Given the description of an element on the screen output the (x, y) to click on. 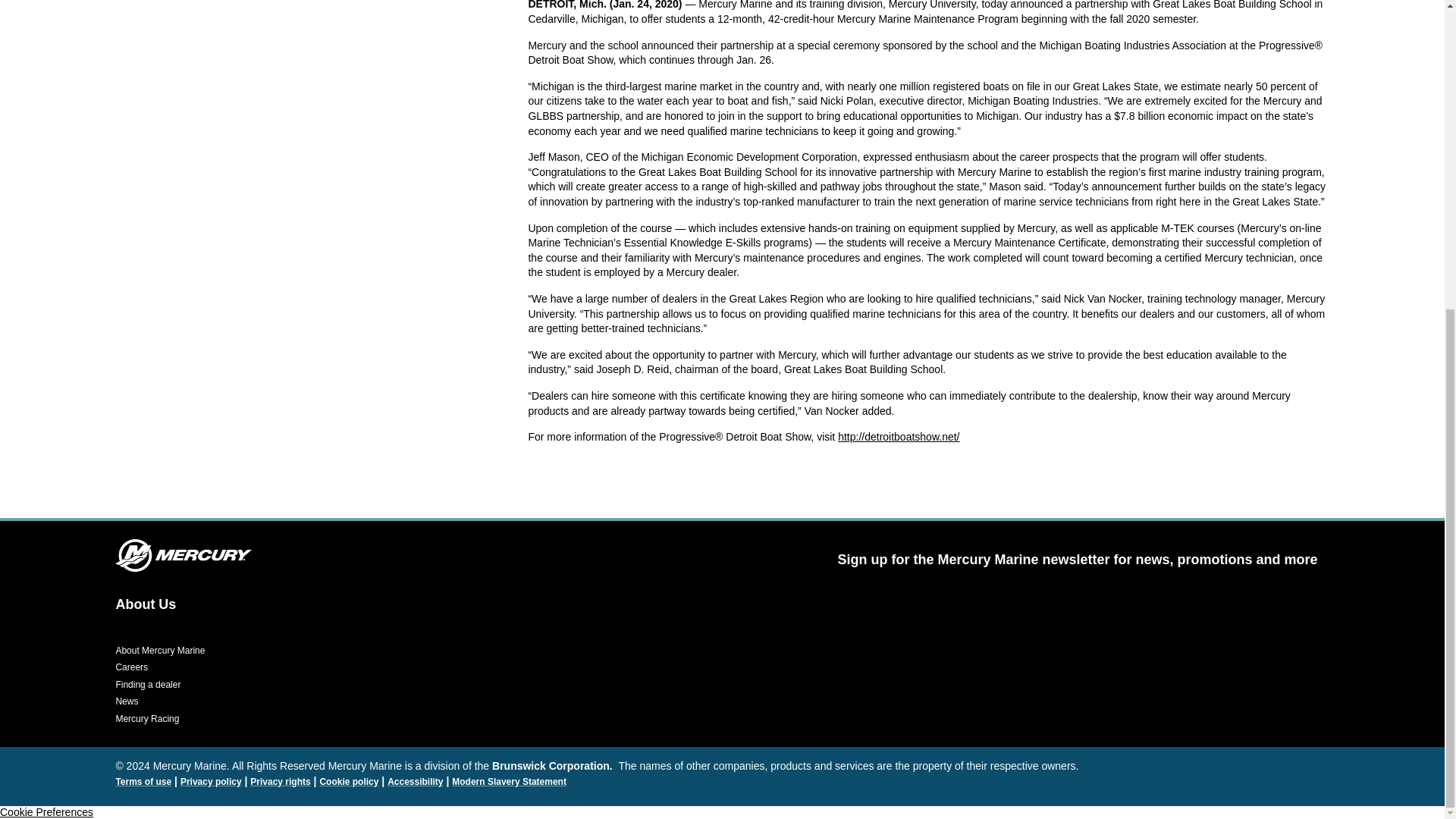
Print (183, 555)
